Given the description of an element on the screen output the (x, y) to click on. 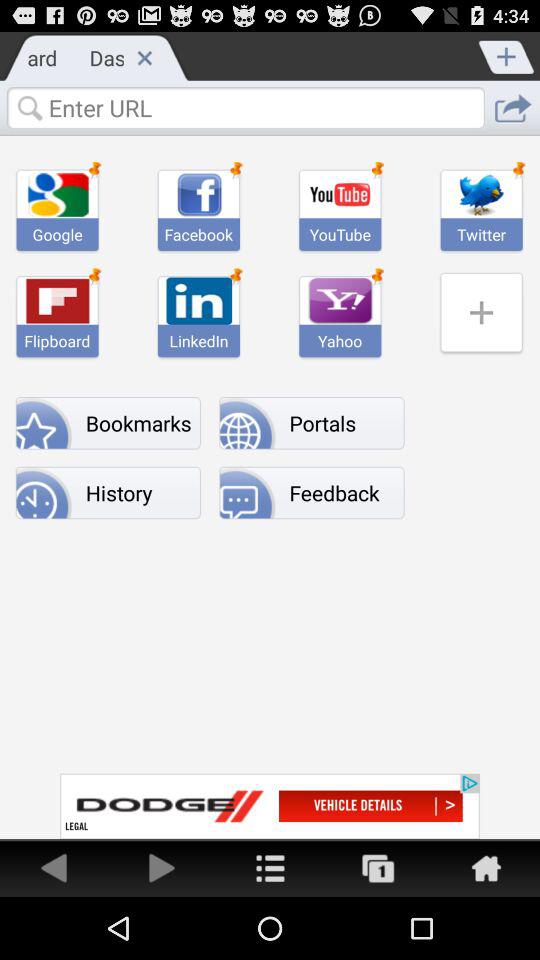
home tab (270, 867)
